Given the description of an element on the screen output the (x, y) to click on. 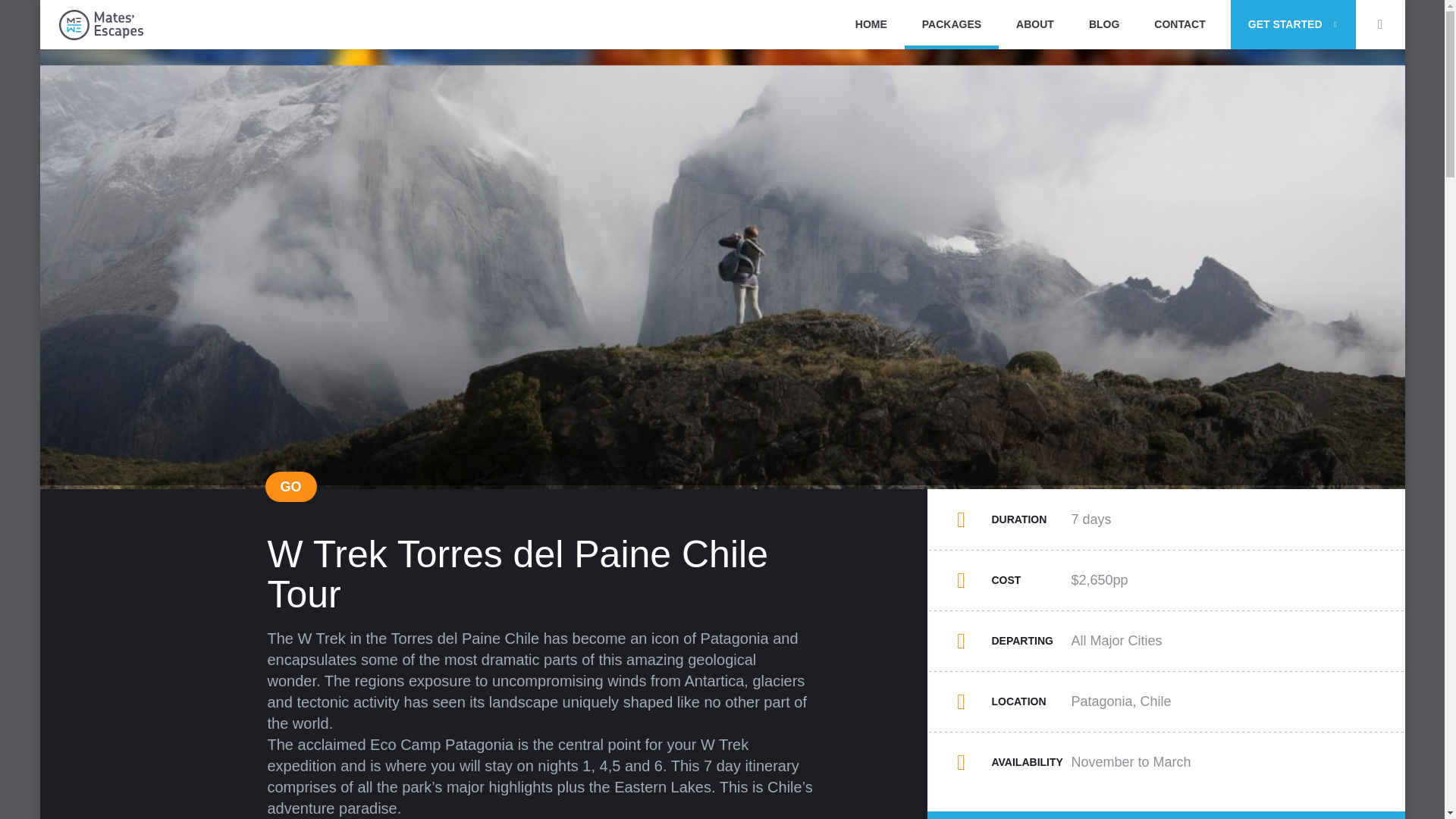
Open Search field (1380, 24)
PACKAGES (951, 24)
BLOG (1104, 24)
Search Mates' Escapes (1389, 24)
Click to view the About page (1034, 24)
CONTACT (1180, 24)
Mates' Escapes home page (100, 24)
Click to view the Home page (871, 24)
ABOUT (1034, 24)
HOME (871, 24)
